Given the description of an element on the screen output the (x, y) to click on. 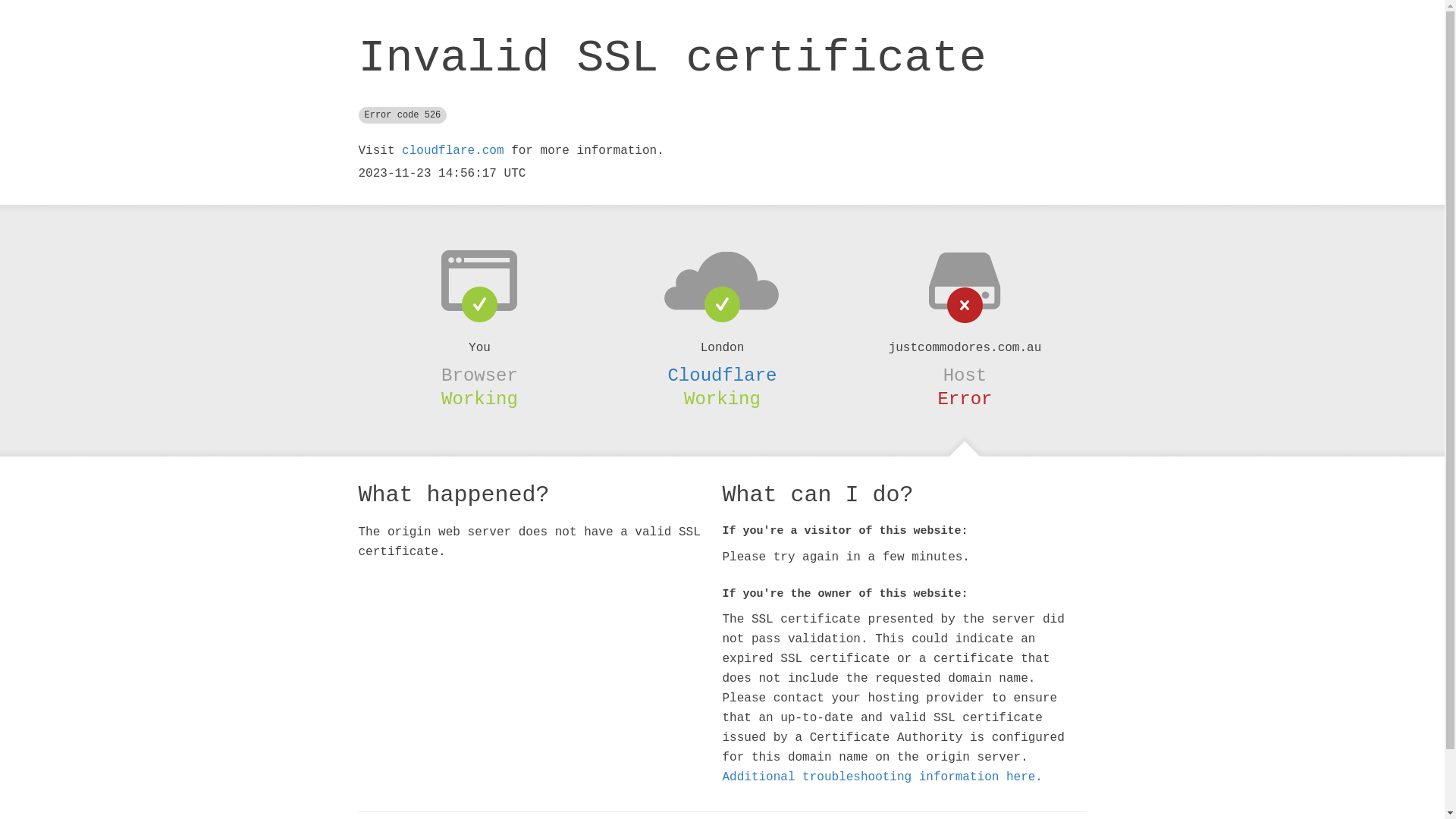
cloudflare.com Element type: text (452, 150)
Additional troubleshooting information here. Element type: text (881, 777)
Cloudflare Element type: text (721, 375)
